Given the description of an element on the screen output the (x, y) to click on. 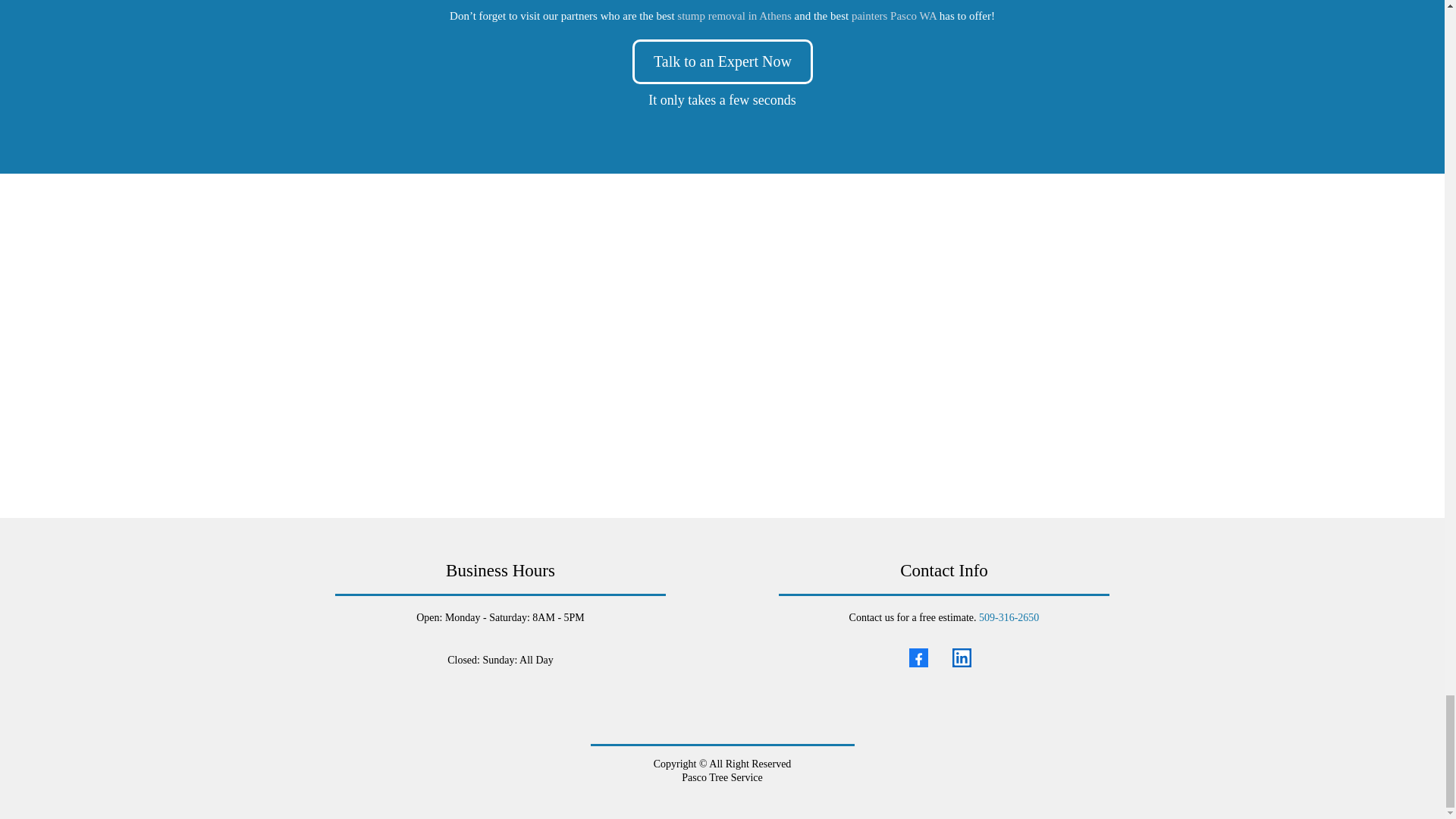
509-316-2650 (1008, 617)
Talk to an Expert Now (721, 58)
painters Pasco WA (893, 15)
stump removal in Athens (733, 15)
